Given the description of an element on the screen output the (x, y) to click on. 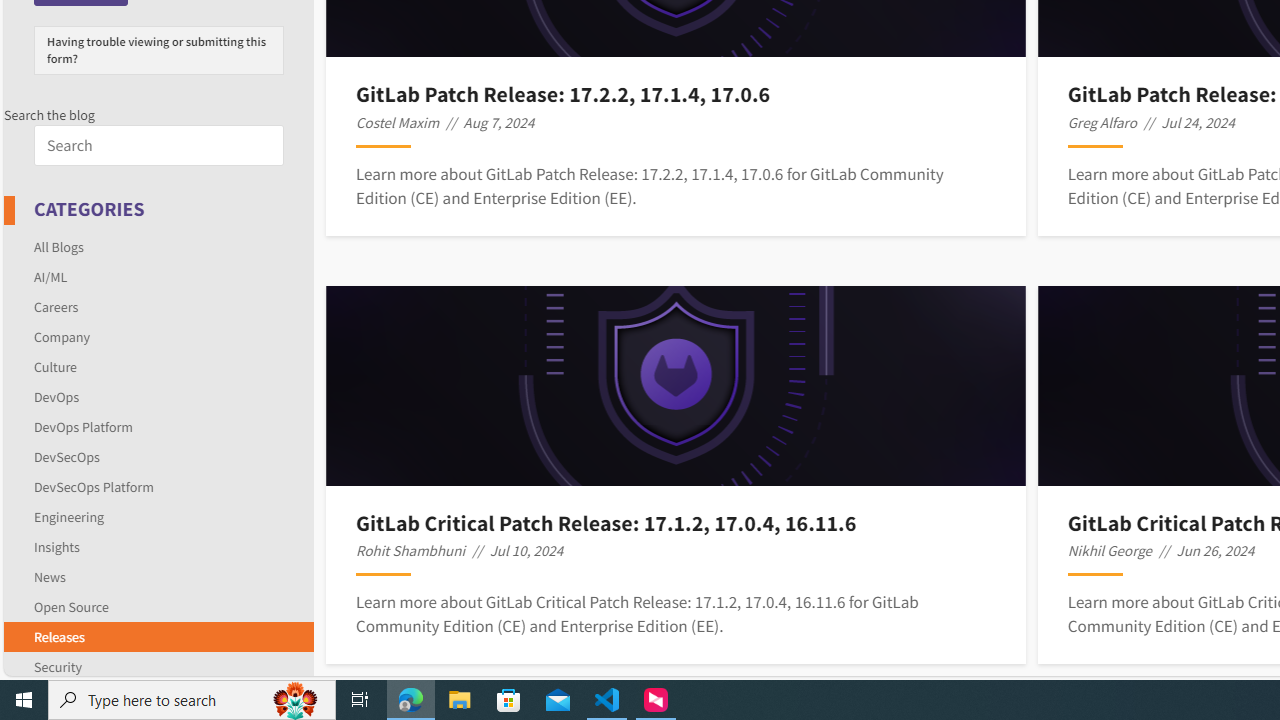
Greg Alfaro (1101, 121)
Culture (56, 366)
Releases (59, 636)
Nikhil George (1109, 550)
GitLab Patch Release: 17.2.2, 17.1.4, 17.0.6 (675, 93)
Company (158, 336)
Post Image (676, 385)
Insights (56, 546)
DevOps (56, 396)
DevOps Platform (83, 425)
All Blogs (59, 245)
Security (158, 663)
DevOps (158, 395)
Engineering (158, 516)
